Given the description of an element on the screen output the (x, y) to click on. 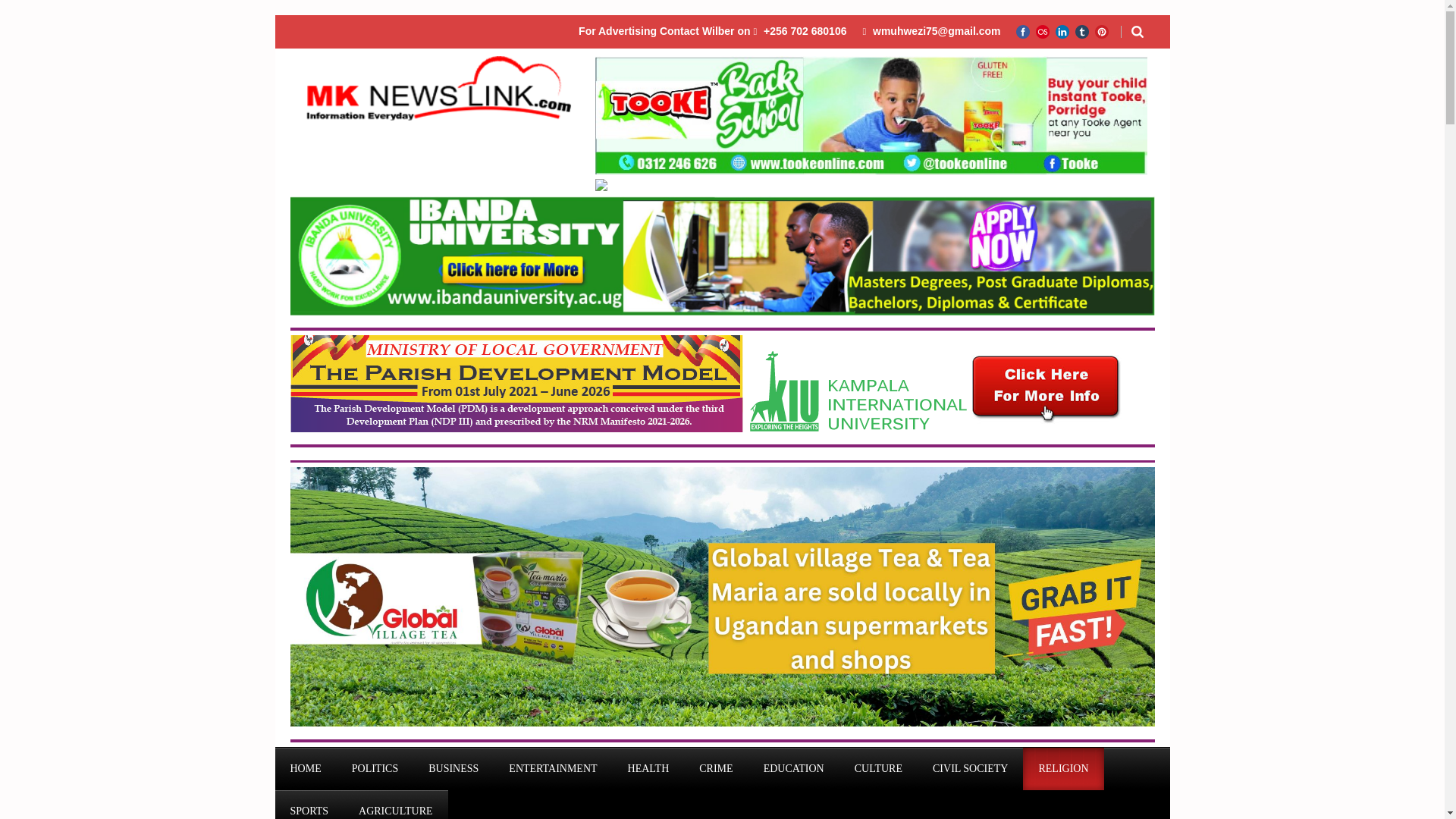
AGRICULTURE (395, 804)
CIVIL SOCIETY (970, 768)
HOME (305, 768)
RELIGION (1063, 768)
ENTERTAINMENT (552, 768)
BUSINESS (453, 768)
EDUCATION (794, 768)
CRIME (716, 768)
POLITICS (374, 768)
CULTURE (878, 768)
SPORTS (309, 804)
HEALTH (648, 768)
